Given the description of an element on the screen output the (x, y) to click on. 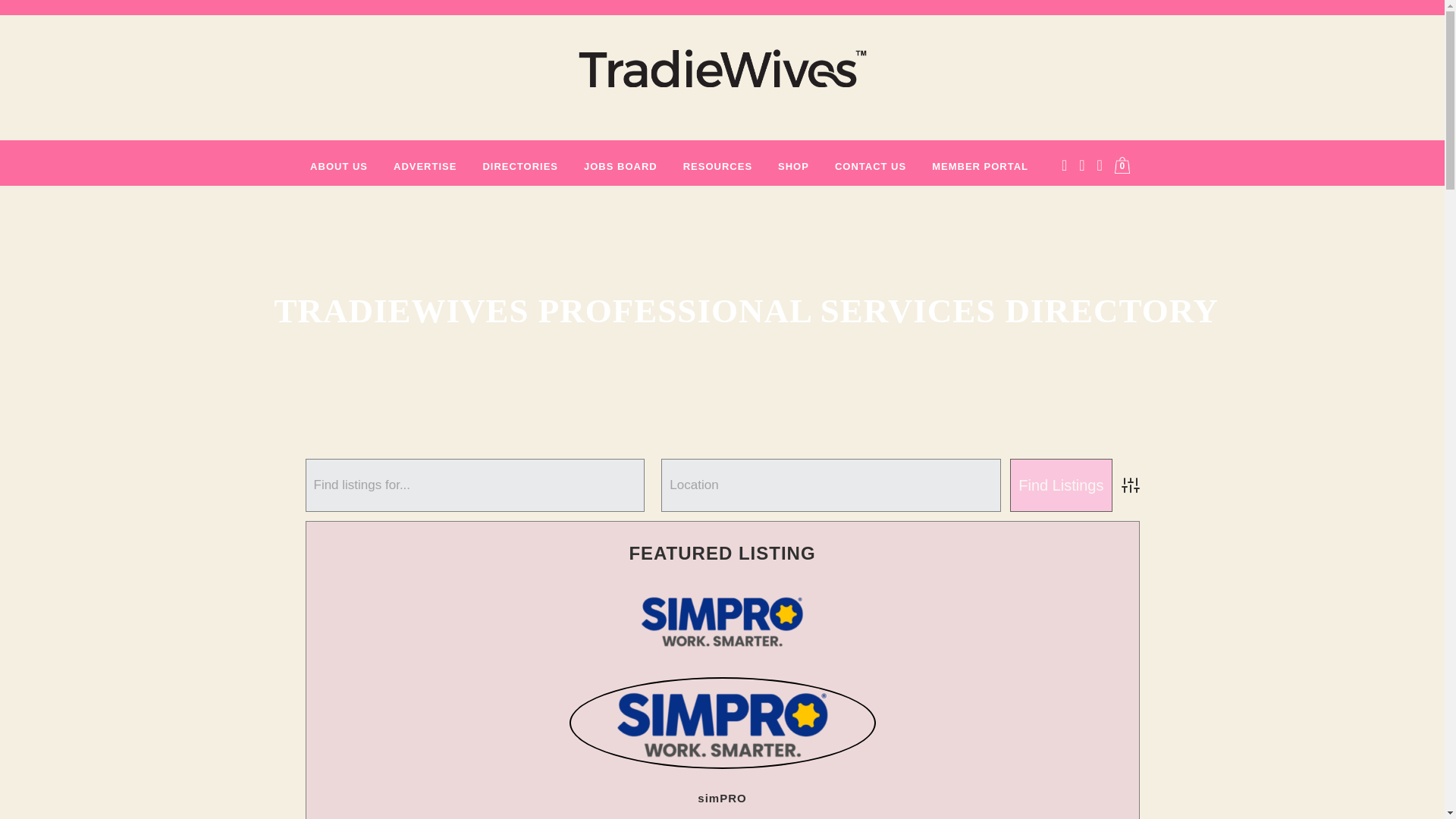
DIRECTORIES (519, 166)
ADVERTISE (424, 166)
Find Listings (1061, 484)
ABOUT US (338, 166)
SHOP (793, 166)
JOBS BOARD (619, 166)
MEMBER PORTAL (979, 166)
RESOURCES (717, 166)
CONTACT US (870, 166)
Quick search keywords (475, 484)
